Given the description of an element on the screen output the (x, y) to click on. 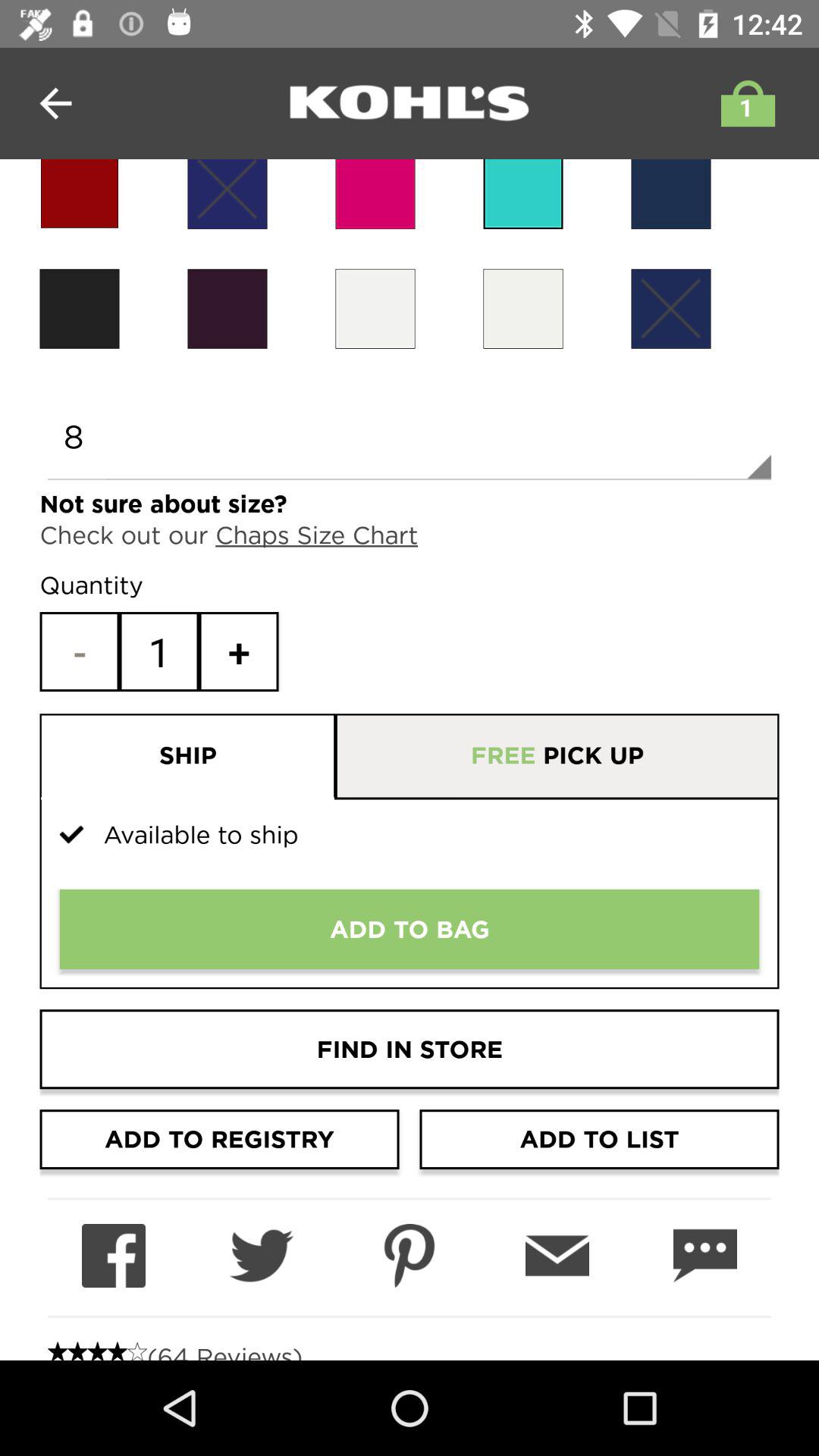
because back devicer (670, 194)
